Given the description of an element on the screen output the (x, y) to click on. 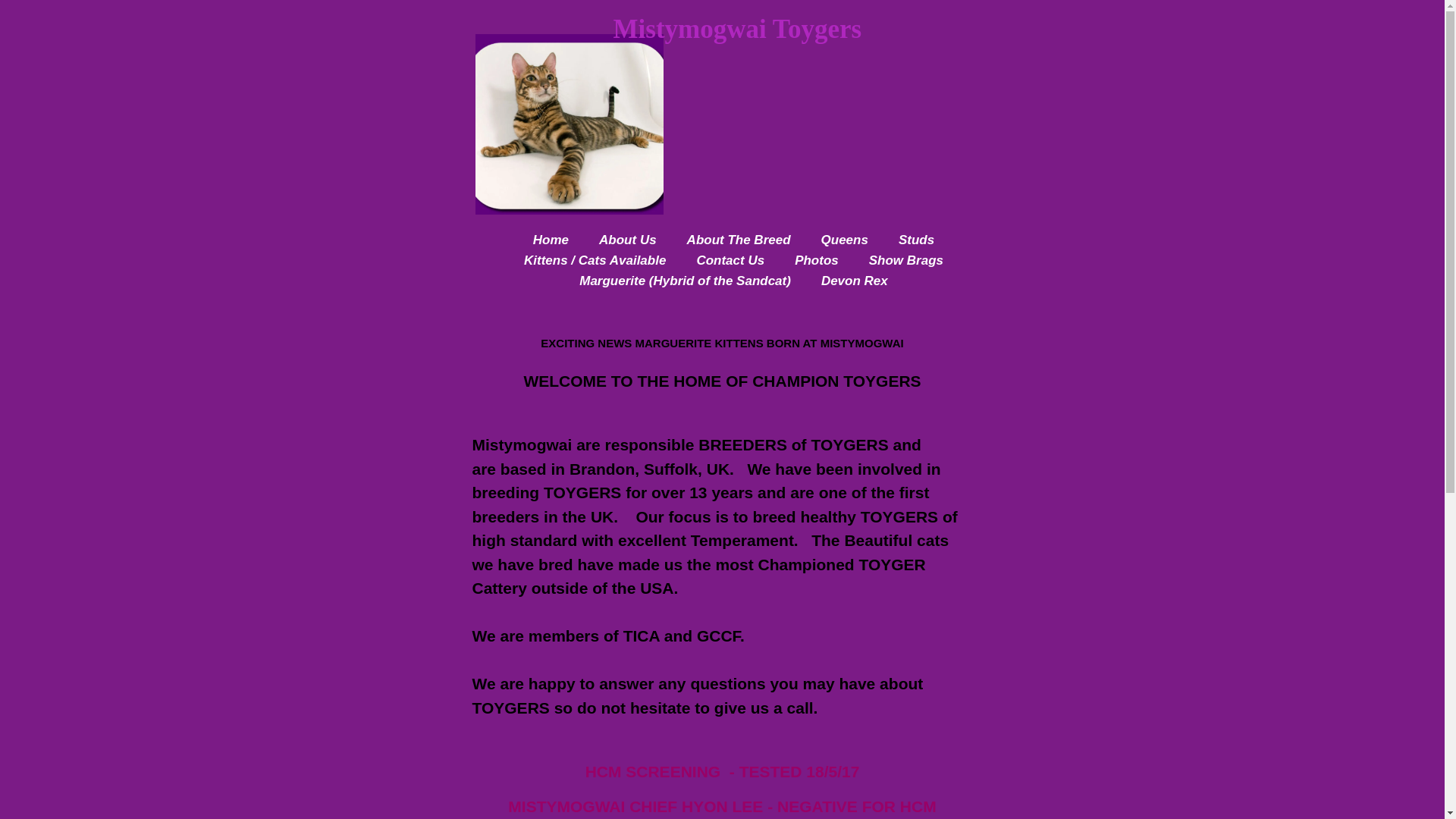
Mistymogwai Toygers (865, 86)
Home (550, 240)
Contact Us (729, 260)
Studs (916, 240)
Show Brags (906, 260)
Queens (844, 240)
Photos (816, 260)
About The Breed (738, 240)
About Us (627, 240)
Devon Rex (854, 281)
